Given the description of an element on the screen output the (x, y) to click on. 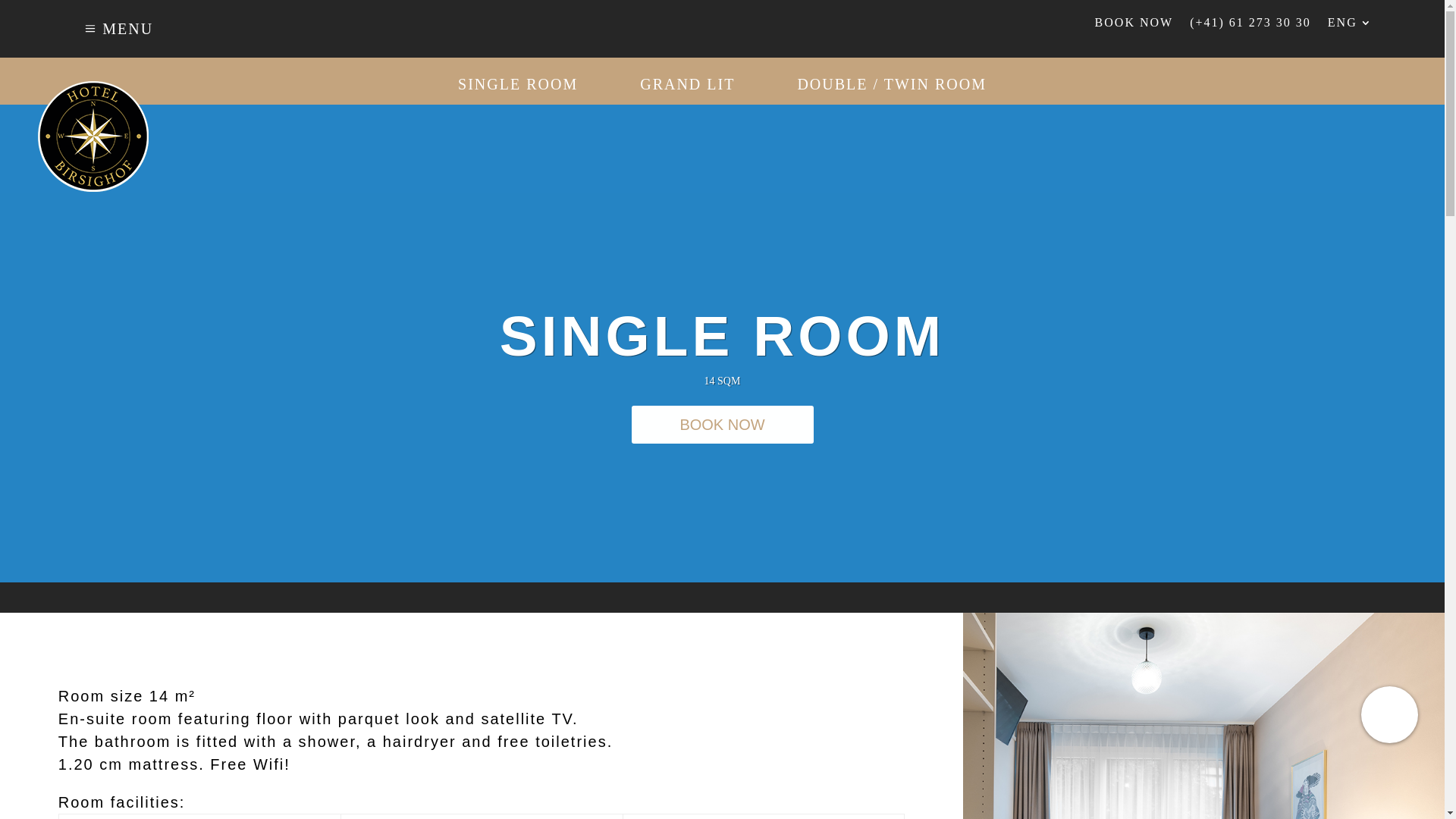
DOUBLE / TWIN ROOM Element type: text (891, 84)
BOOK NOW Element type: text (721, 424)
SINGLE ROOM Element type: text (721, 335)
BOOK NOW Element type: text (1134, 25)
(+41) 61 273 30 30 Element type: text (1250, 25)
MENU Element type: text (163, 28)
GRAND LIT Element type: text (687, 84)
ENG Element type: text (1349, 25)
SINGLE ROOM Element type: text (517, 84)
